Given the description of an element on the screen output the (x, y) to click on. 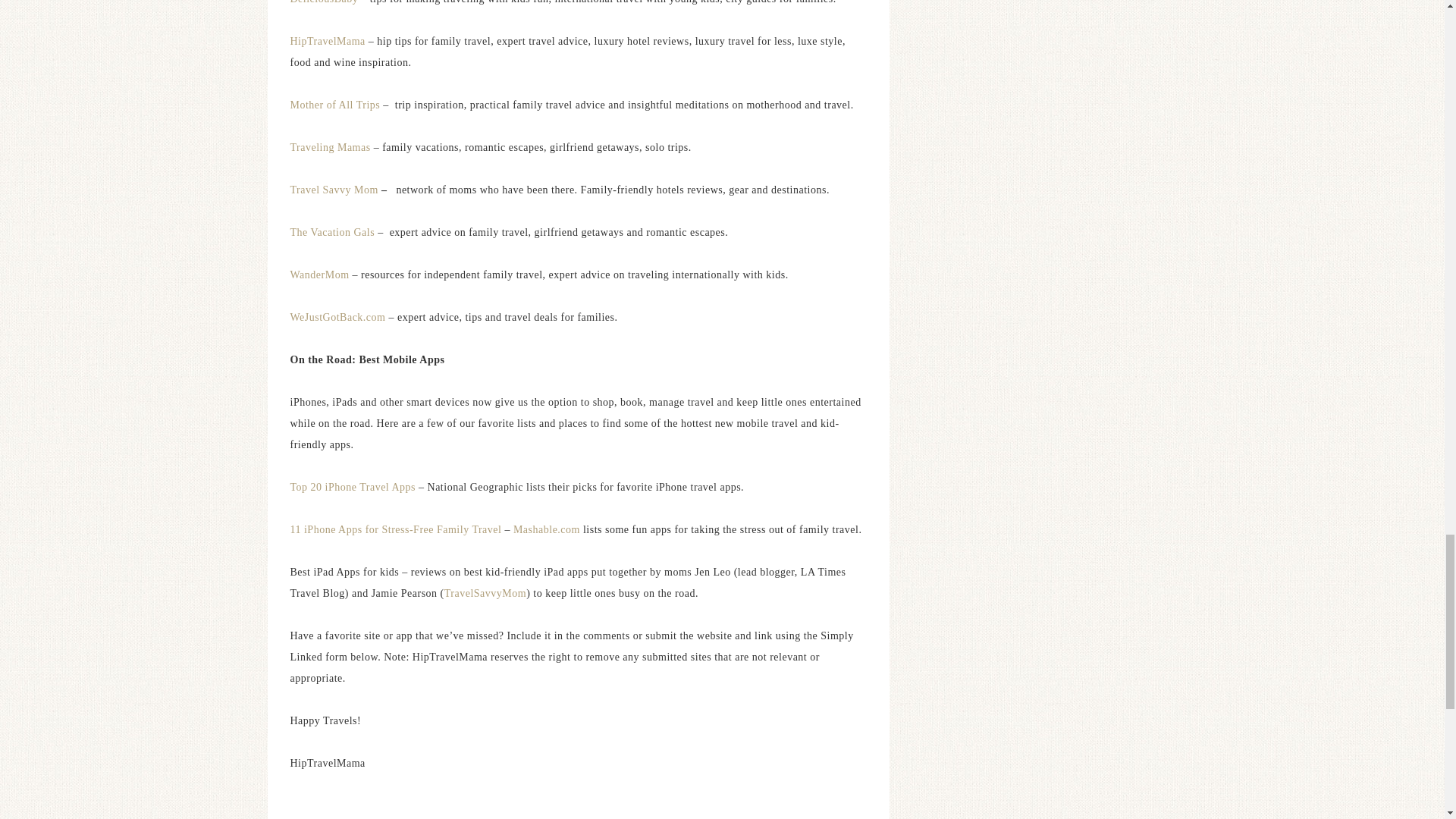
Mother of All Trips (334, 104)
Travel Savvy Mom (333, 189)
HipTravelMama (328, 41)
The Vacation Gals (331, 232)
Traveling Mamas (329, 147)
DeliciousBaby (323, 2)
